Given the description of an element on the screen output the (x, y) to click on. 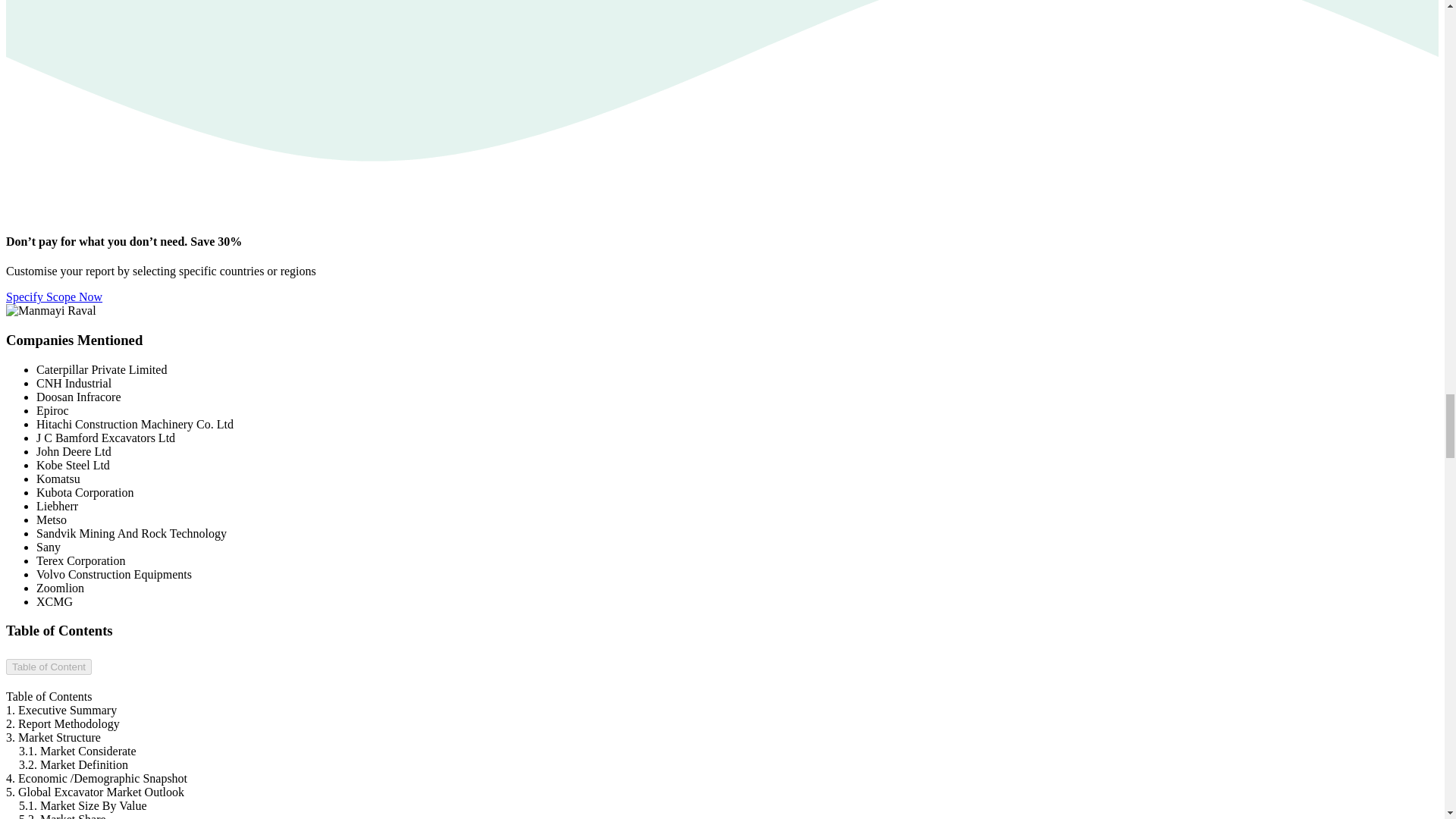
Manmayi Raval (50, 310)
